Given the description of an element on the screen output the (x, y) to click on. 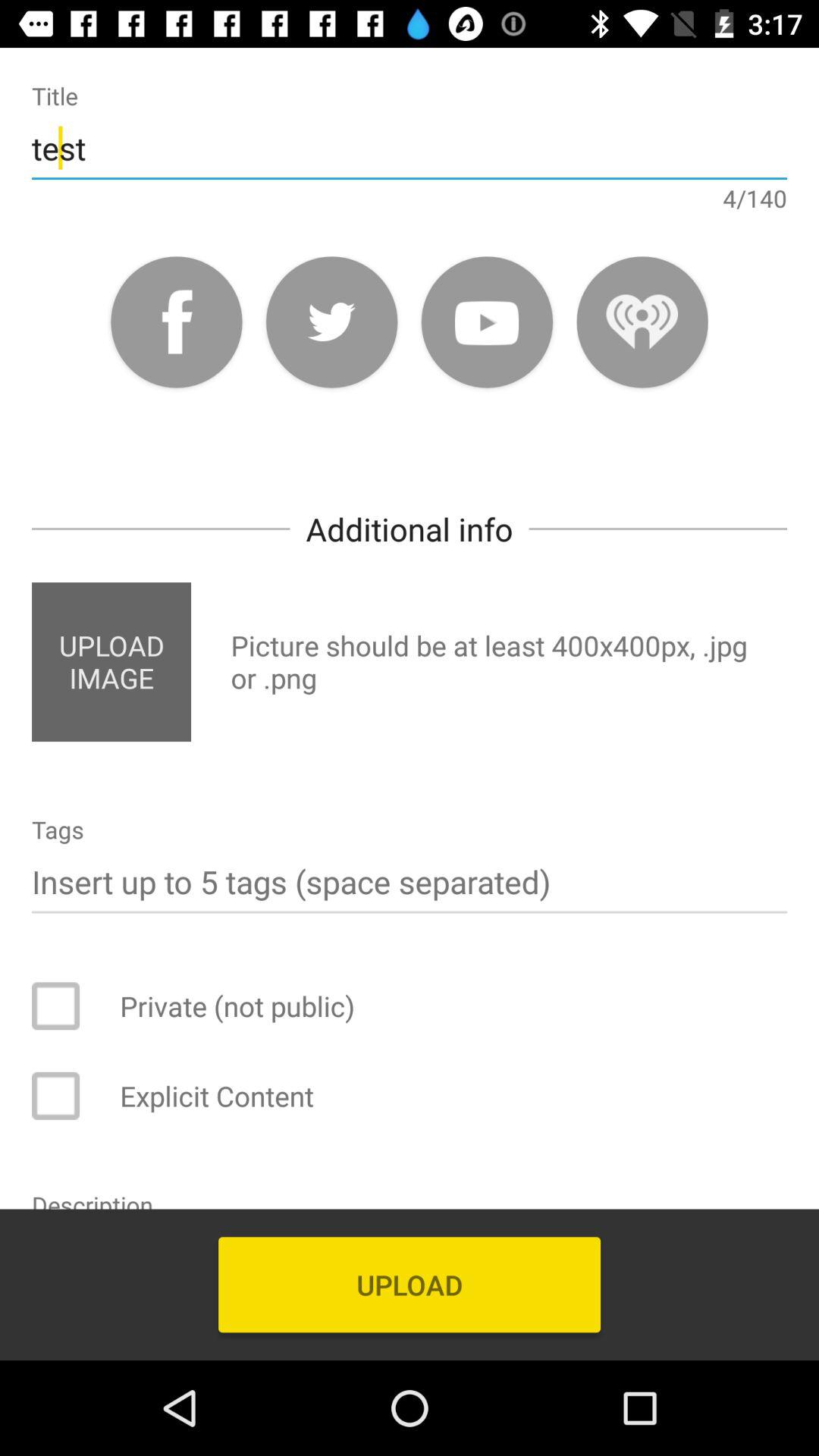
open youtube (486, 321)
